Given the description of an element on the screen output the (x, y) to click on. 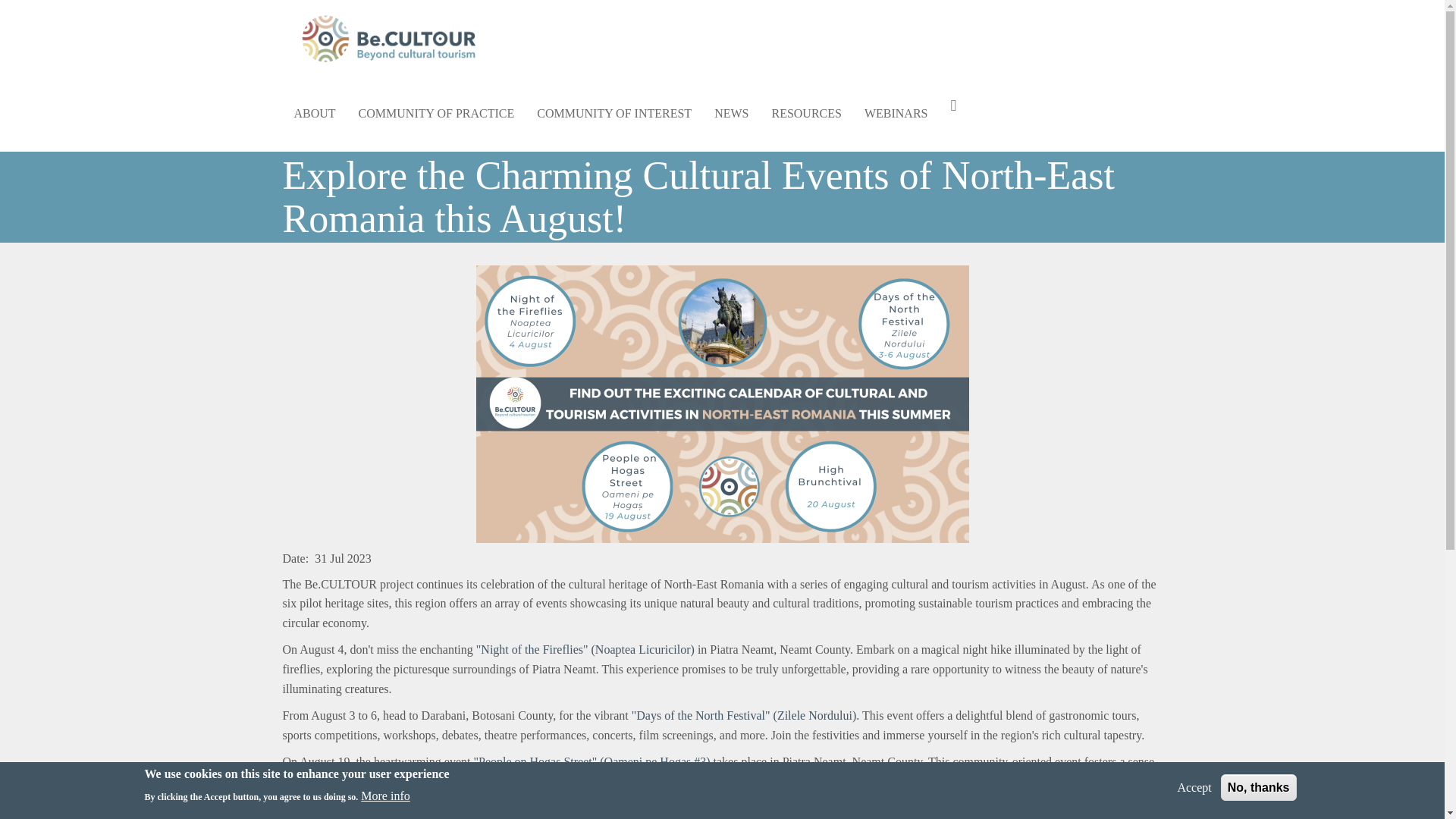
RESOURCES (805, 113)
Home (393, 38)
WEBINARS (896, 113)
COMMUNITY OF PRACTICE (436, 113)
COMMUNITY OF INTEREST (614, 113)
Webinars (896, 113)
